Given the description of an element on the screen output the (x, y) to click on. 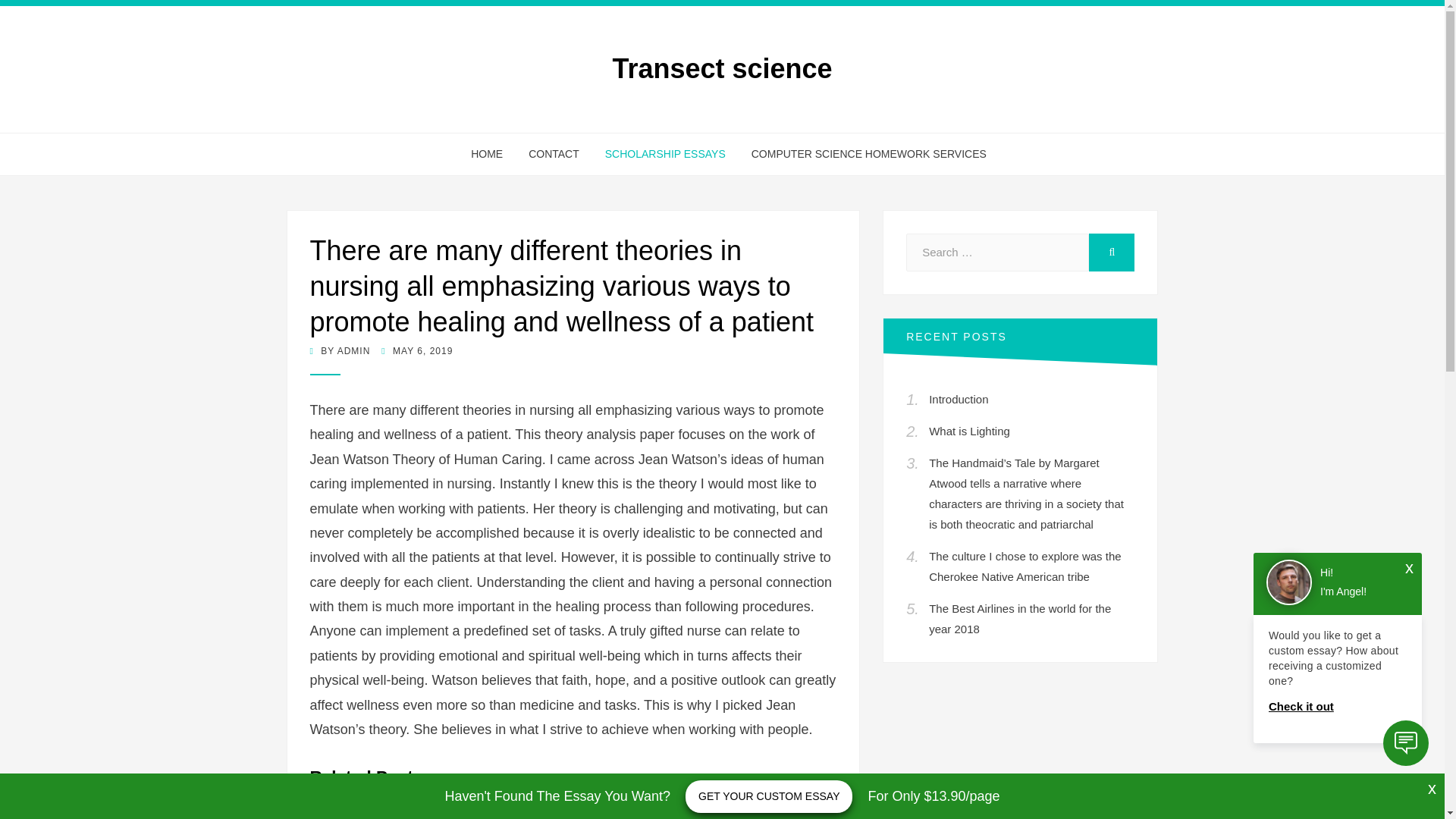
GET YOUR CUSTOM ESSAY (768, 795)
CONTACT (553, 153)
MAY 6, 2019 (416, 350)
Transect science (721, 68)
What is Lighting (969, 431)
HOME (486, 153)
COMPUTER SCIENCE HOMEWORK SERVICES (862, 153)
SCHOLARSHIP ESSAYS (665, 153)
